Given the description of an element on the screen output the (x, y) to click on. 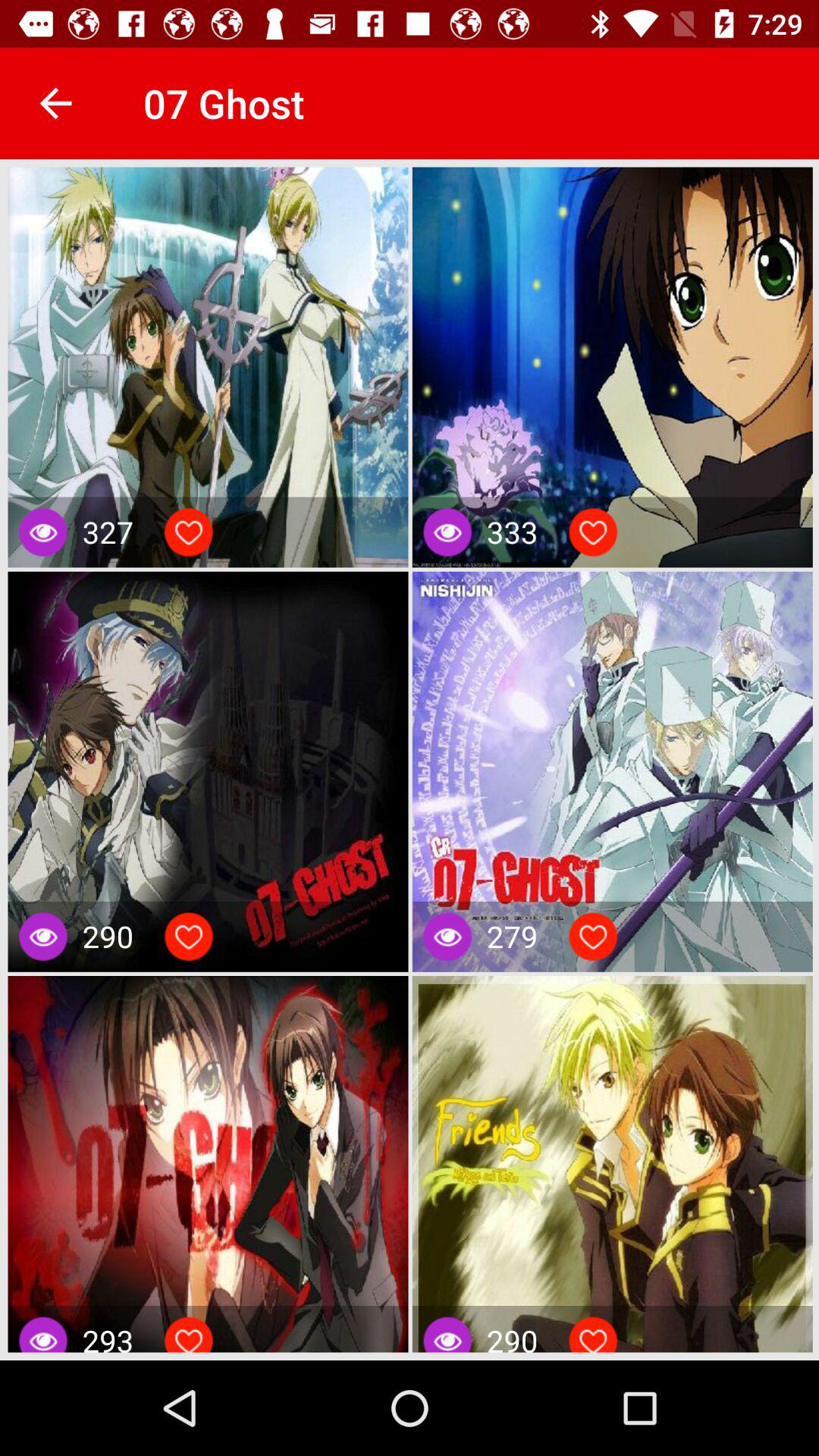
like content (593, 936)
